Given the description of an element on the screen output the (x, y) to click on. 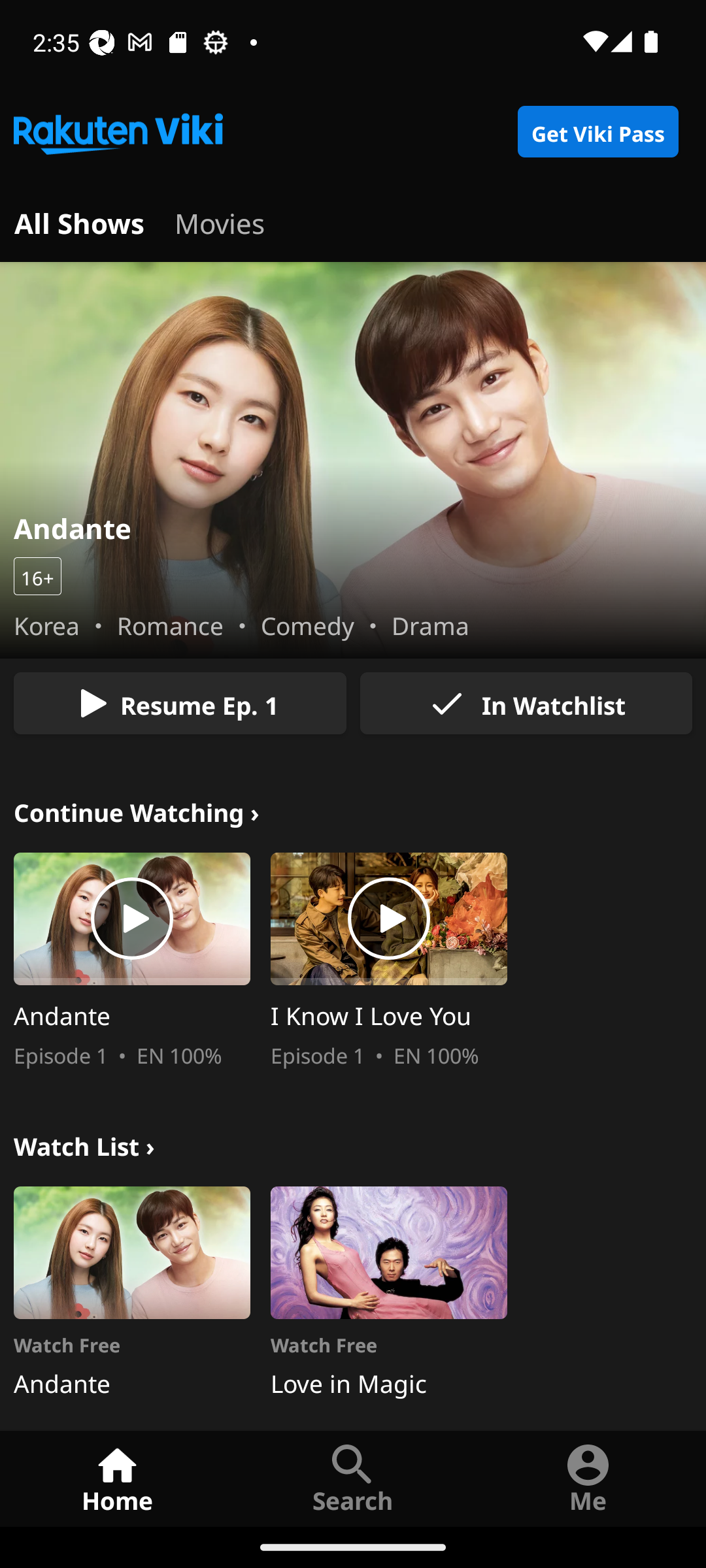
Get Viki Pass (597, 131)
home_tab_movies Movies (219, 220)
Resume Ep. 1 home_billboard_play_button (179, 702)
In Watchlist home_billboard_in_watchlist_button (526, 702)
Continue Watching › continue_watching (136, 809)
Watch List › watch_list (84, 1143)
Search (352, 1478)
Me (588, 1478)
